Given the description of an element on the screen output the (x, y) to click on. 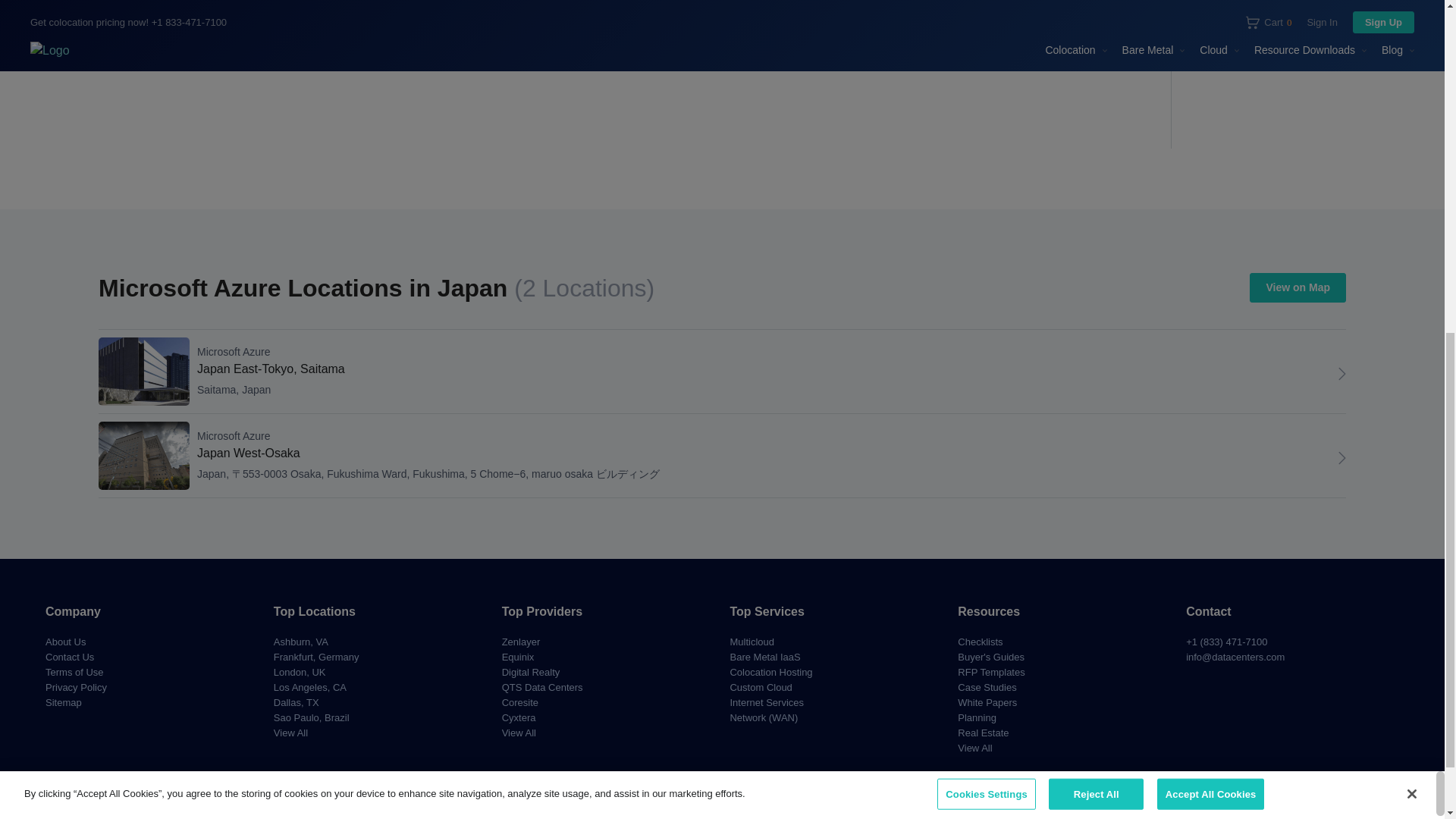
Chat (1342, 457)
Chat (1342, 373)
